Given the description of an element on the screen output the (x, y) to click on. 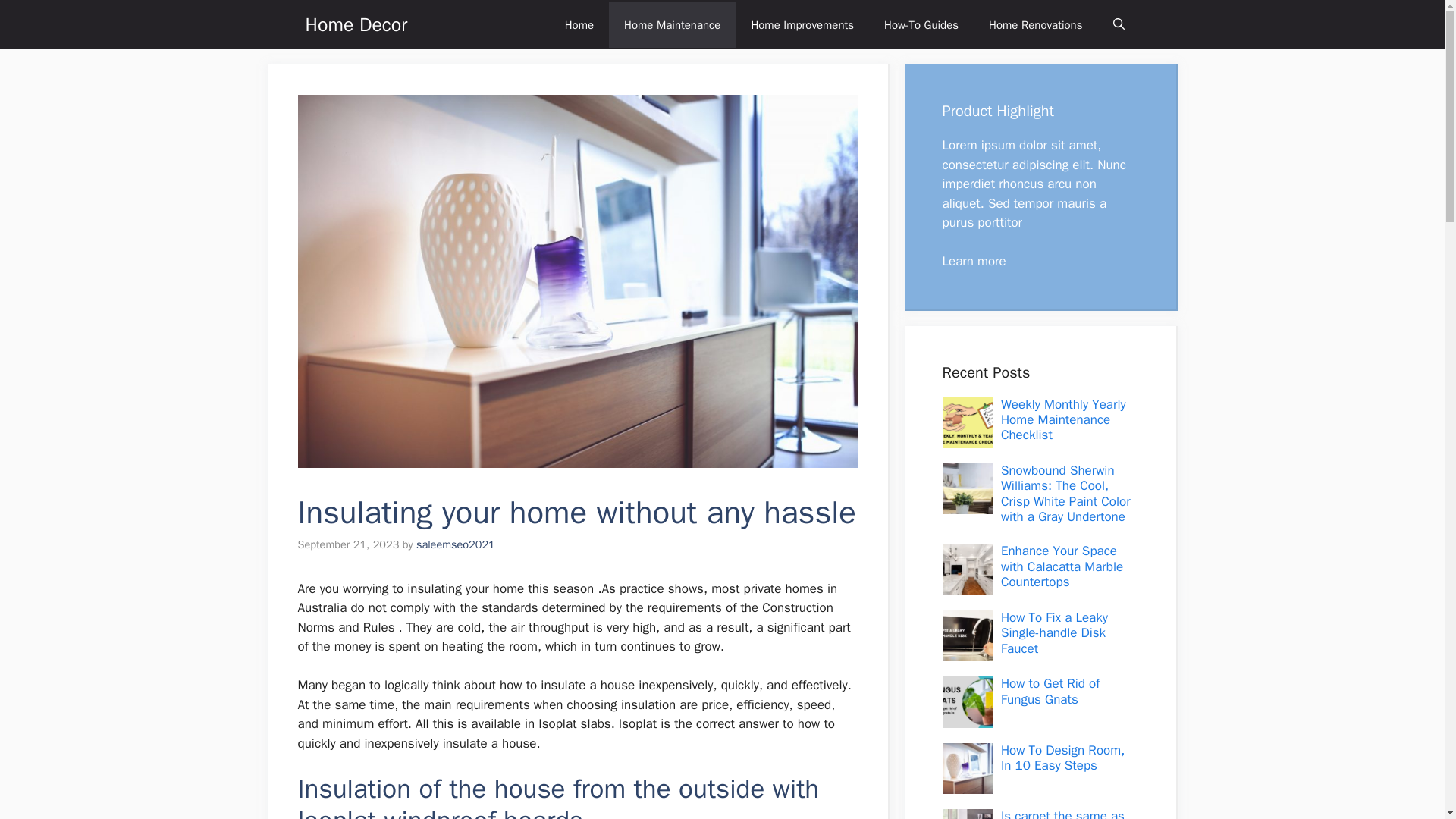
Home Maintenance (671, 23)
View all posts by saleemseo2021 (455, 544)
Home Renovations (1035, 23)
How to Get Rid of Fungus Gnats (1050, 690)
saleemseo2021 (455, 544)
Home Decor (355, 24)
How-To Guides (921, 23)
Home (579, 23)
Weekly Monthly Yearly Home Maintenance Checklist (1063, 419)
